Given the description of an element on the screen output the (x, y) to click on. 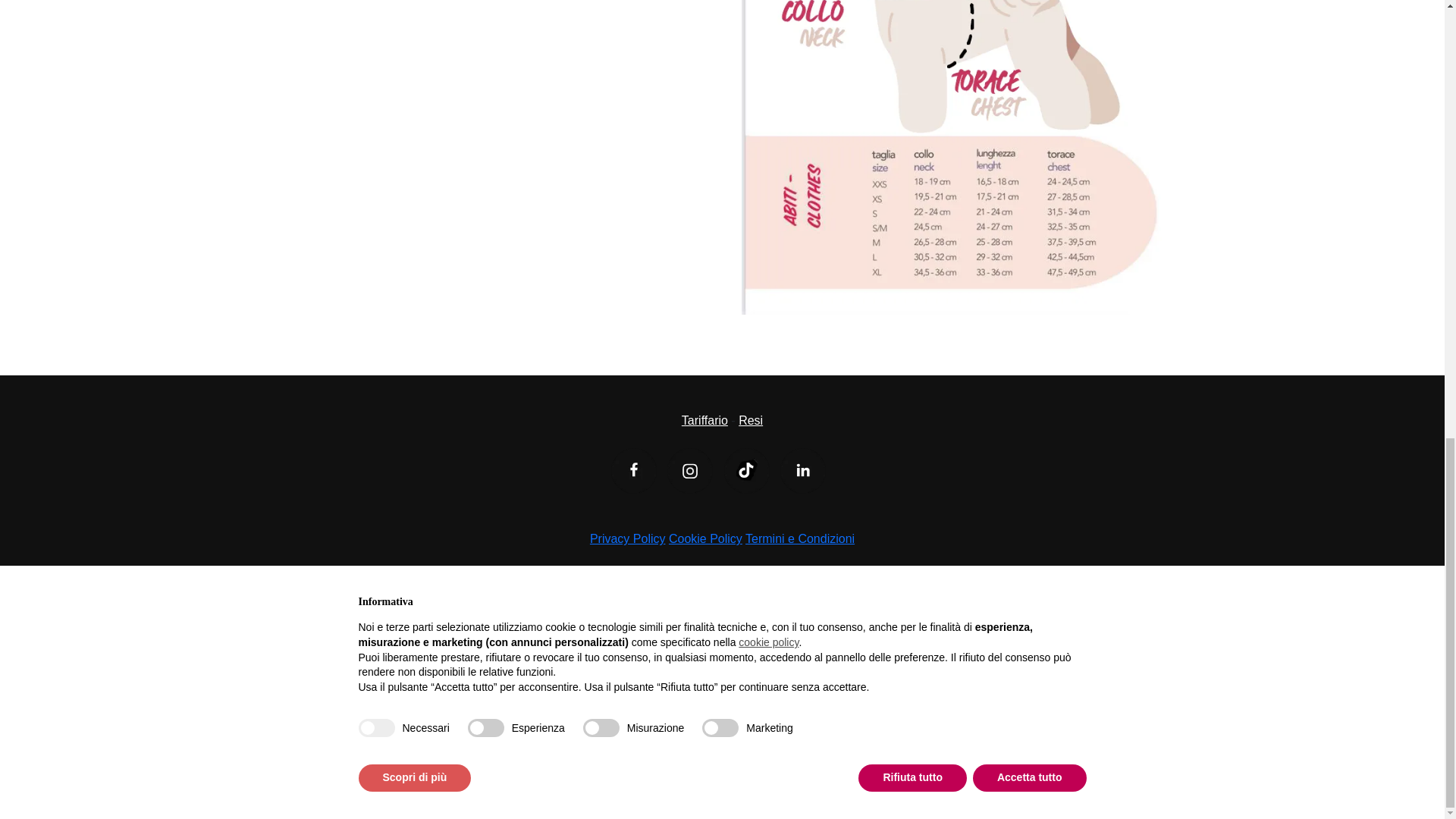
Privacy Policy  (627, 538)
Termini e Condizioni  (799, 538)
Cookie Policy  (705, 538)
